Given the description of an element on the screen output the (x, y) to click on. 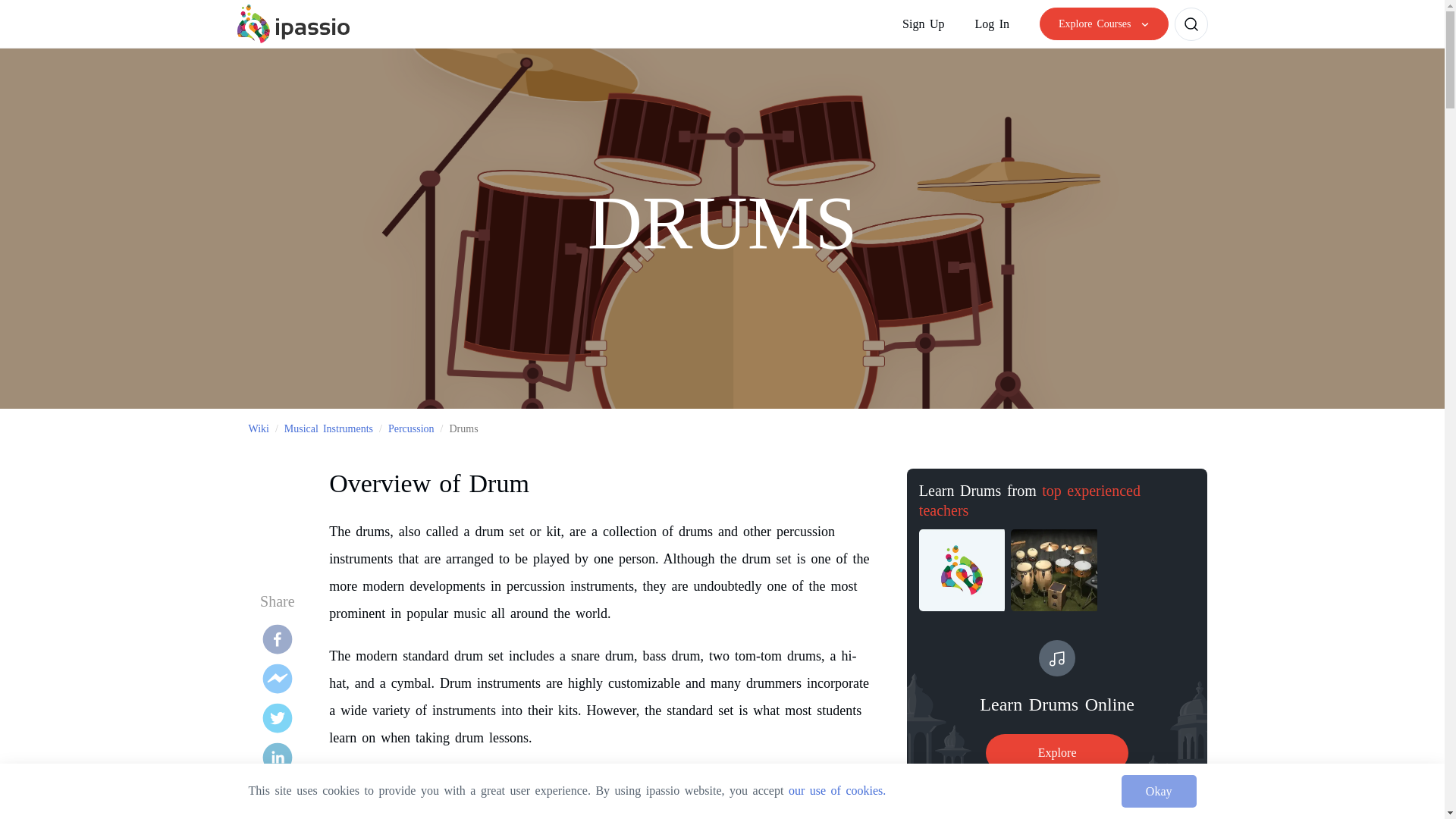
Percussion (1056, 705)
Musical Instruments (410, 428)
Log In (327, 428)
Wiki (1000, 23)
